Given the description of an element on the screen output the (x, y) to click on. 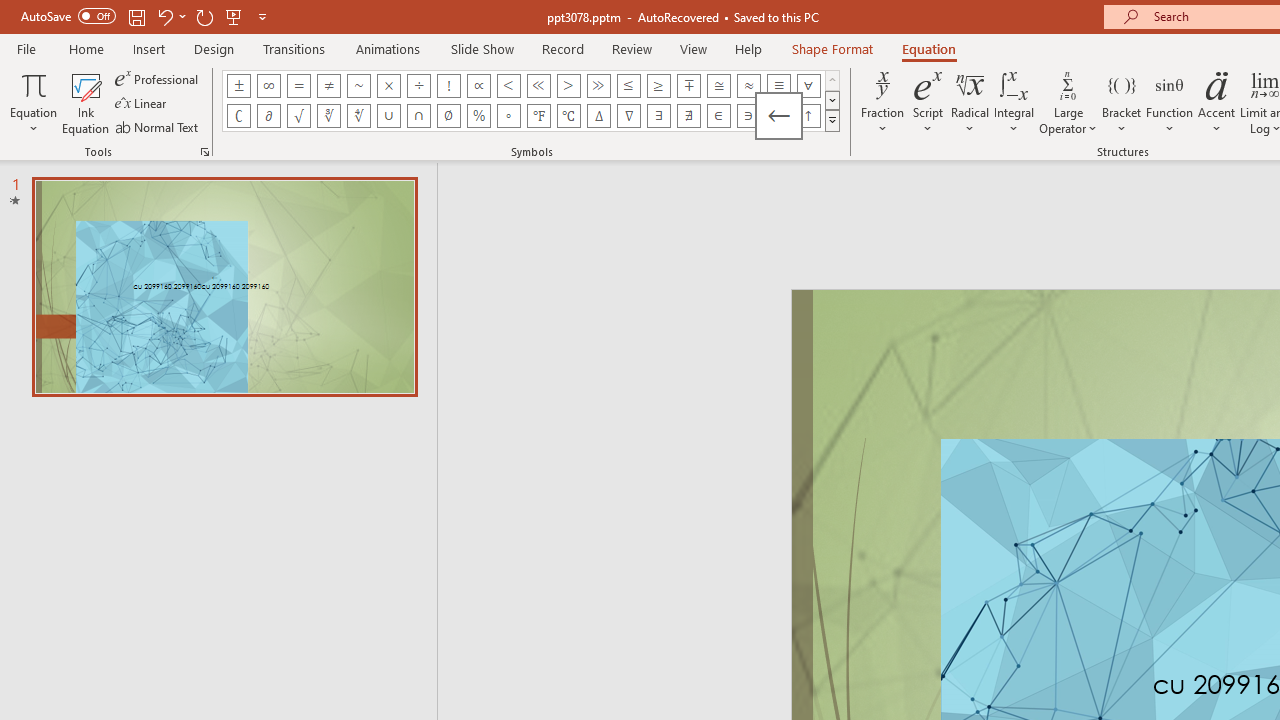
Equation Symbol Percentage (478, 115)
Equation Symbol Almost Equal To (Asymptotic To) (748, 85)
Equation Symbol Nabla (628, 115)
Equation Symbol Union (388, 115)
Equation Symbol Greater Than (568, 85)
Equation Symbol Empty Set (448, 115)
Equation Symbol Element Of (718, 115)
Linear (142, 103)
Equation Symbol Approximately Equal To (718, 85)
